Given the description of an element on the screen output the (x, y) to click on. 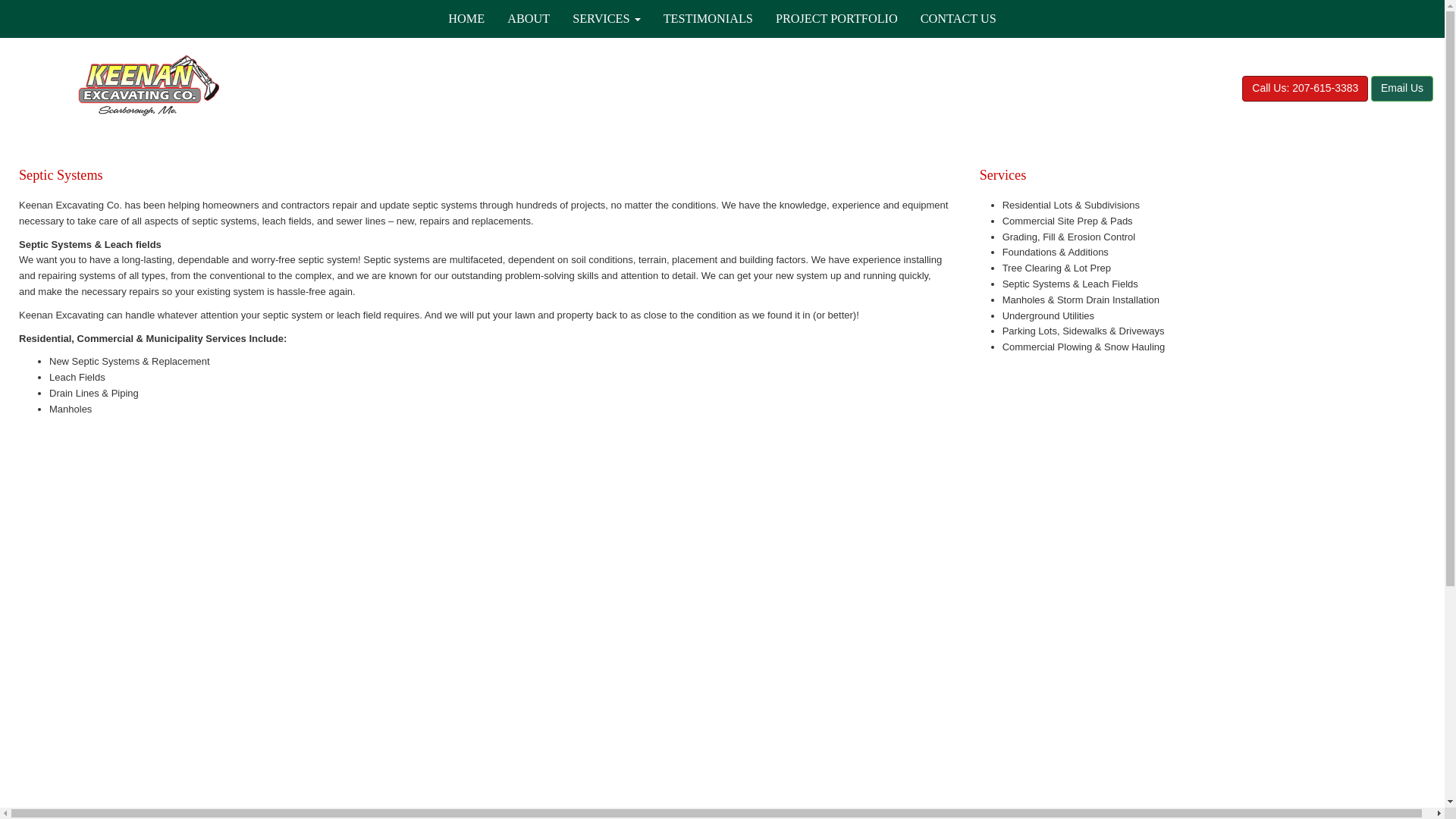
TESTIMONIALS (708, 18)
HOME (466, 18)
Call Us: 207-615-3383 (1304, 88)
Home (466, 18)
Services (606, 18)
CONTACT US (957, 18)
Keenan Excavating (147, 85)
ABOUT (528, 18)
PROJECT PORTFOLIO (836, 18)
Project Portfolio (836, 18)
